Given the description of an element on the screen output the (x, y) to click on. 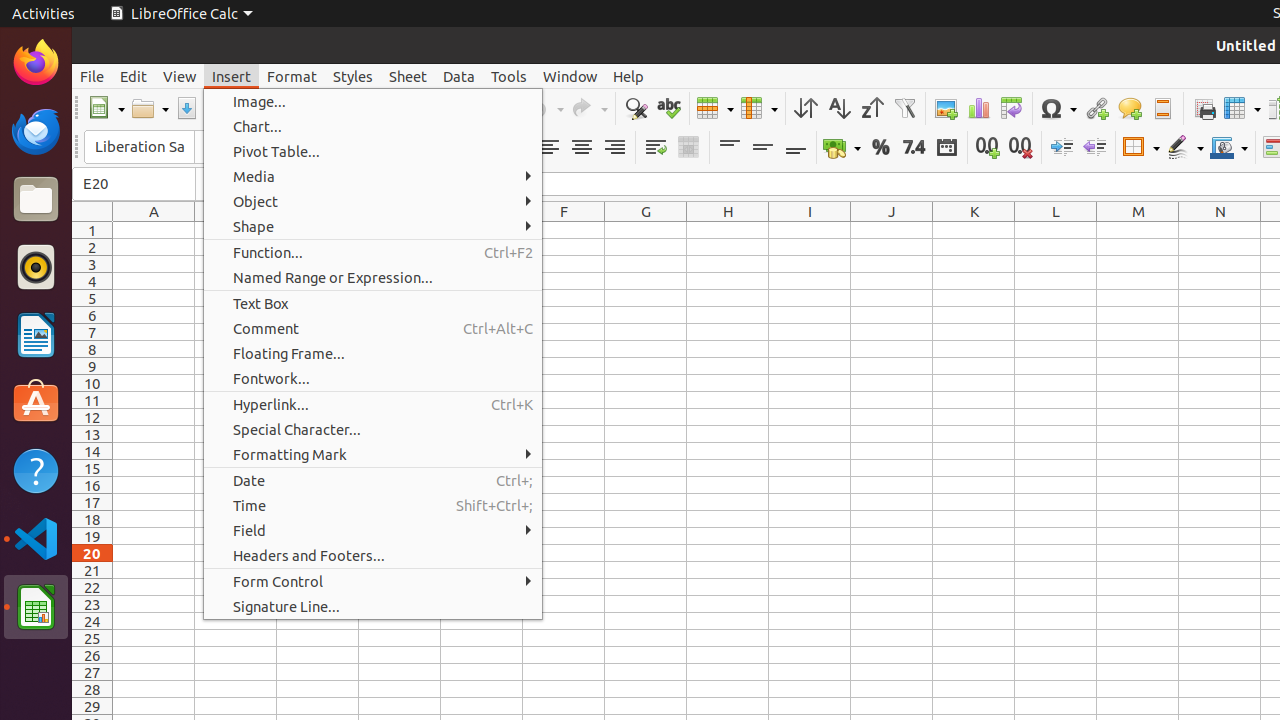
M1 Element type: table-cell (1138, 230)
Image Element type: push-button (945, 108)
Tools Element type: menu (509, 76)
Percent Element type: push-button (880, 147)
Borders (Shift to overwrite) Element type: push-button (1141, 147)
